Given the description of an element on the screen output the (x, y) to click on. 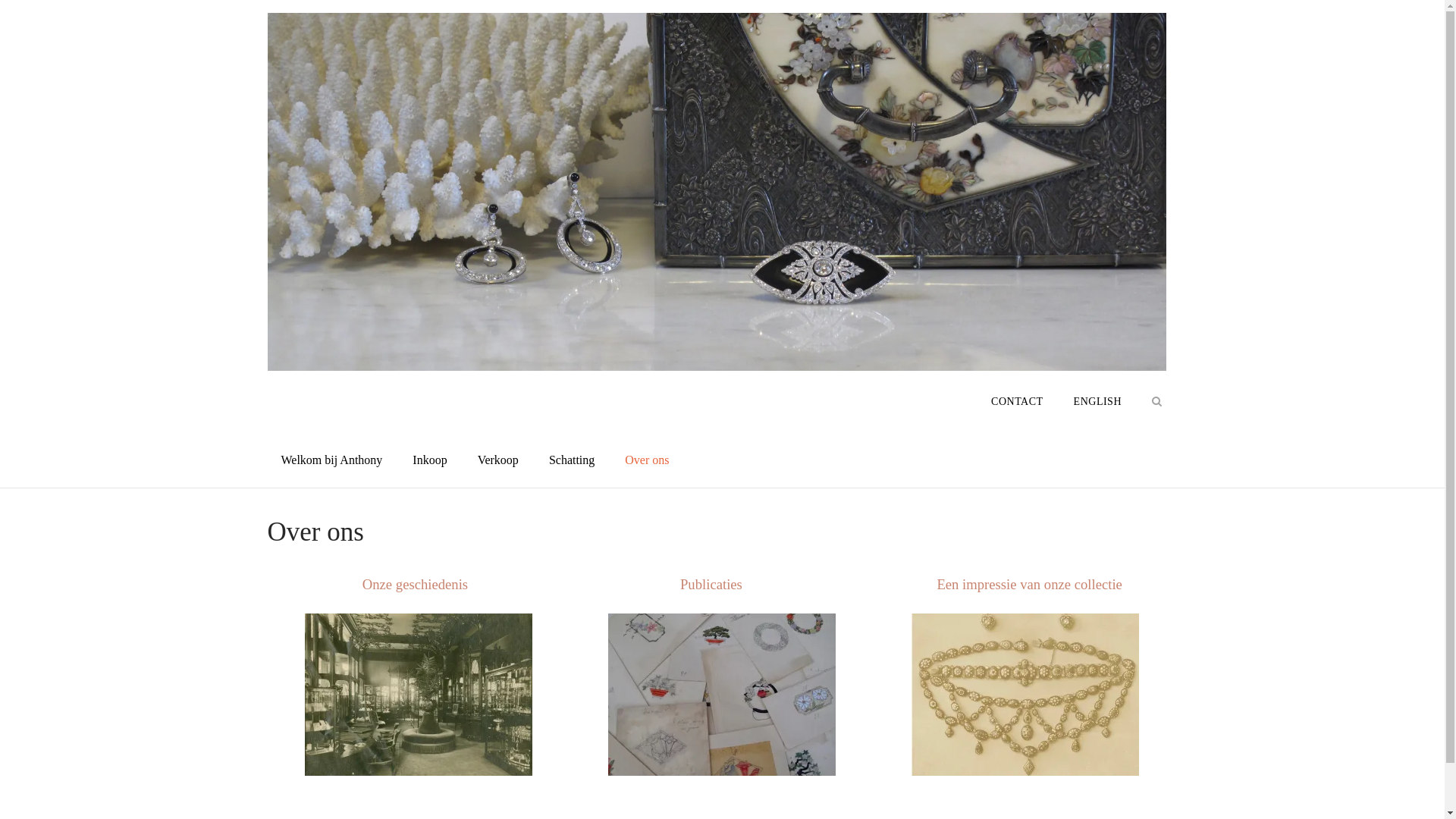
Verkoop Element type: text (497, 460)
Over ons Element type: text (646, 460)
ENGLISH Element type: text (1097, 401)
Publicaties Element type: text (711, 584)
Schatting Element type: text (571, 460)
CONTACT Element type: text (1016, 401)
Geschiedenis Element type: hover (418, 692)
Instagram Element type: hover (1025, 692)
Onze geschiedenis Element type: text (414, 584)
ANTHONY Element type: text (307, 390)
Welkom bij Anthony Element type: text (331, 460)
Inkoop Element type: text (429, 460)
Een impressie van onze collectie Element type: text (1029, 584)
Publicaties Element type: hover (721, 692)
